Given the description of an element on the screen output the (x, y) to click on. 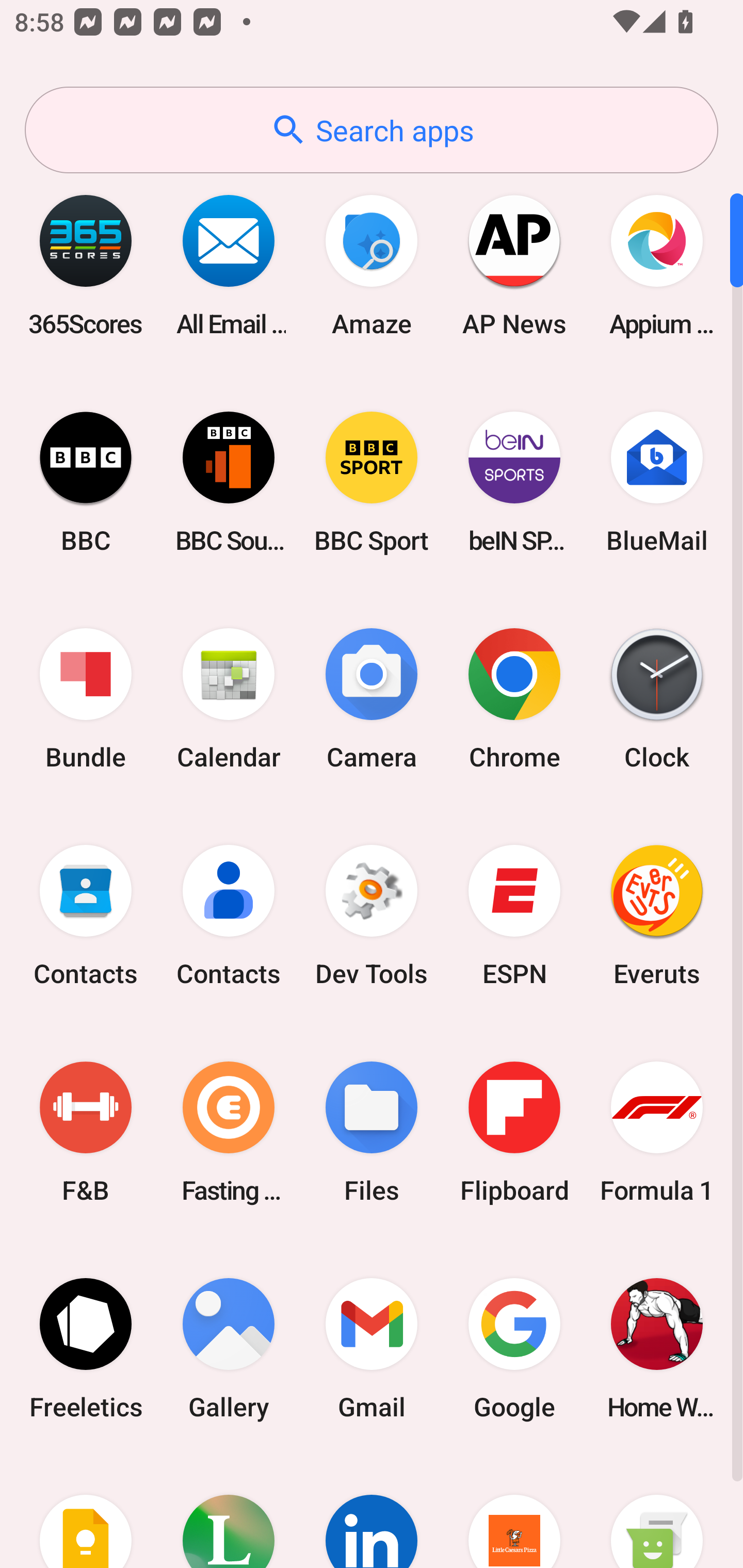
  Search apps (371, 130)
365Scores (85, 264)
All Email Connect (228, 264)
Amaze (371, 264)
AP News (514, 264)
Appium Settings (656, 264)
BBC (85, 482)
BBC Sounds (228, 482)
BBC Sport (371, 482)
beIN SPORTS (514, 482)
BlueMail (656, 482)
Bundle (85, 699)
Calendar (228, 699)
Camera (371, 699)
Chrome (514, 699)
Clock (656, 699)
Contacts (85, 915)
Contacts (228, 915)
Dev Tools (371, 915)
ESPN (514, 915)
Everuts (656, 915)
F&B (85, 1131)
Fasting Coach (228, 1131)
Files (371, 1131)
Flipboard (514, 1131)
Formula 1 (656, 1131)
Freeletics (85, 1348)
Gallery (228, 1348)
Gmail (371, 1348)
Google (514, 1348)
Home Workout (656, 1348)
Keep Notes (85, 1512)
Lifesum (228, 1512)
LinkedIn (371, 1512)
Little Caesars Pizza (514, 1512)
Messaging (656, 1512)
